Given the description of an element on the screen output the (x, y) to click on. 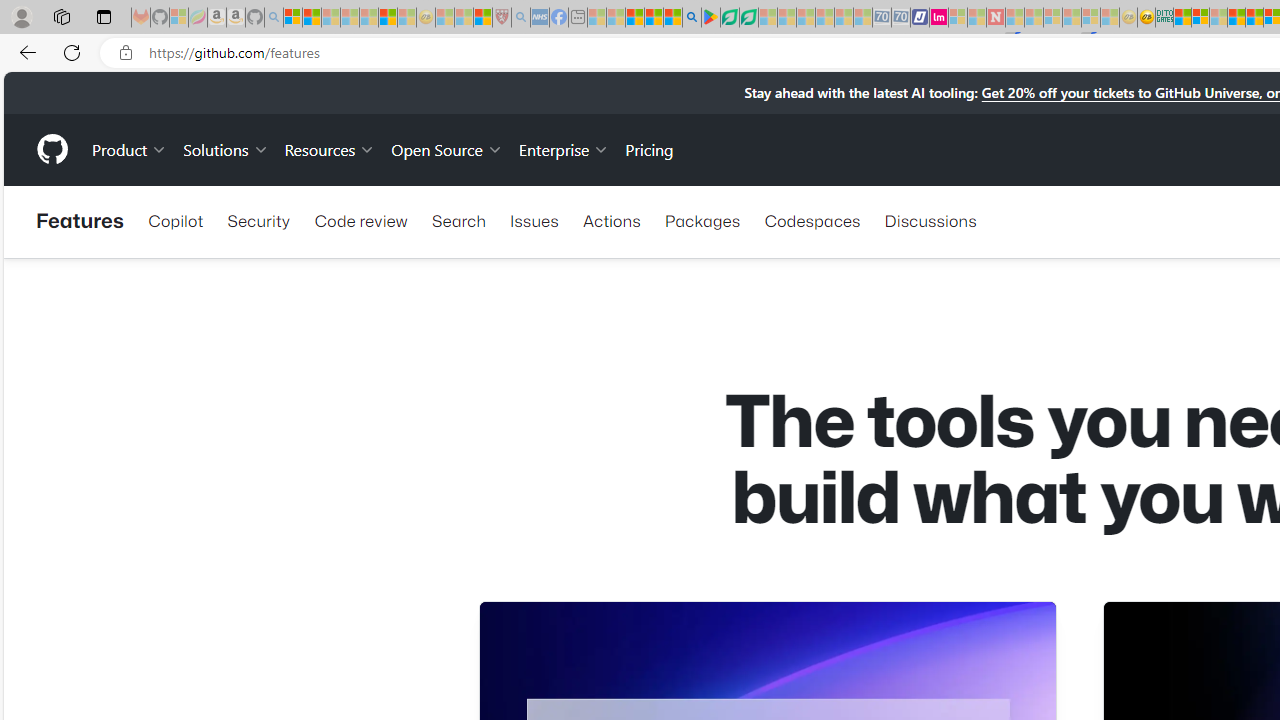
Codespaces (812, 220)
Pets - MSN (654, 17)
Solutions (225, 148)
Security (258, 220)
